Given the description of an element on the screen output the (x, y) to click on. 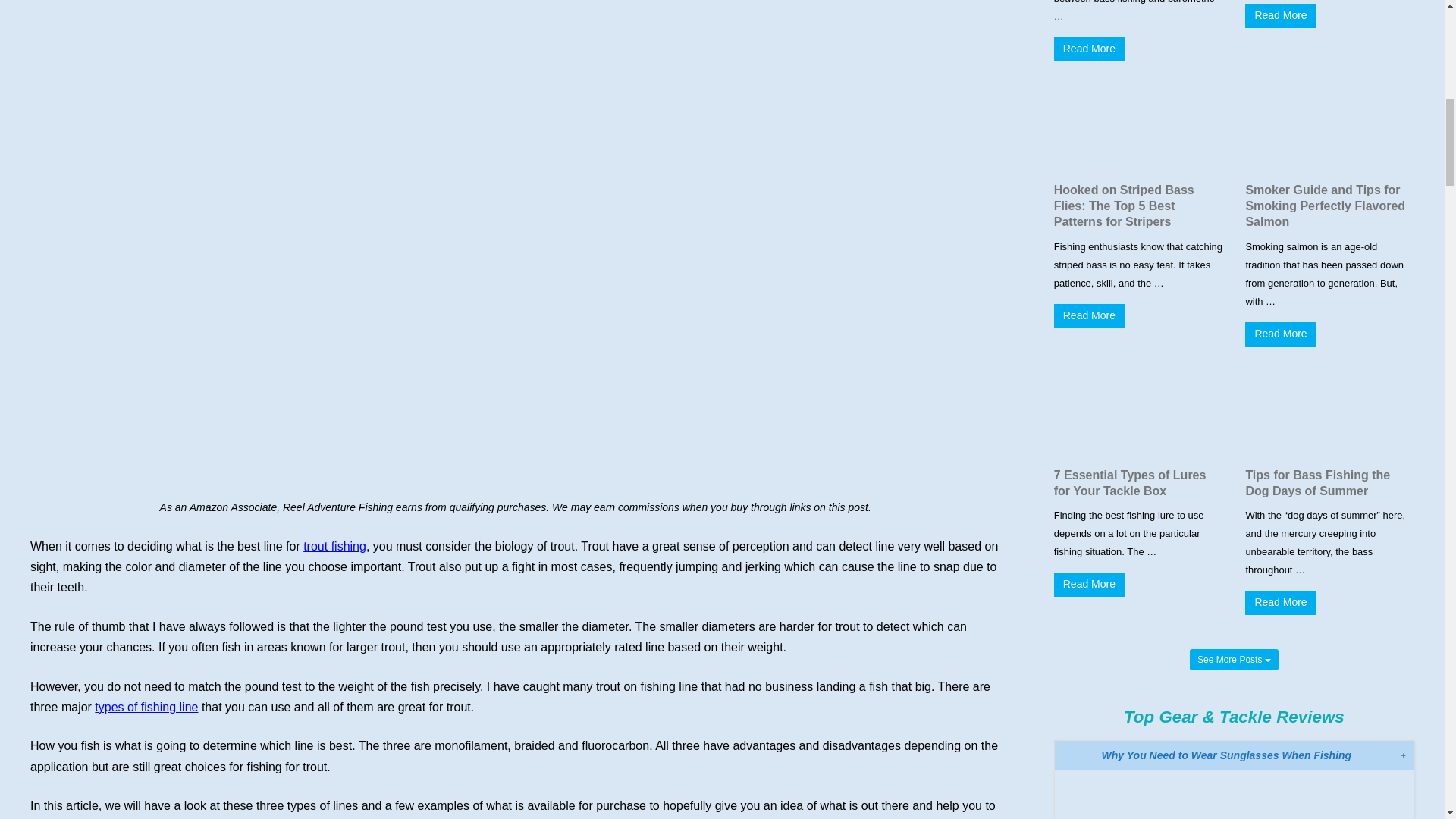
Fishing Line for Dummies (146, 707)
Fishing for Rainbow Trout, Top Game Fish West of the Rockies (334, 545)
